Given the description of an element on the screen output the (x, y) to click on. 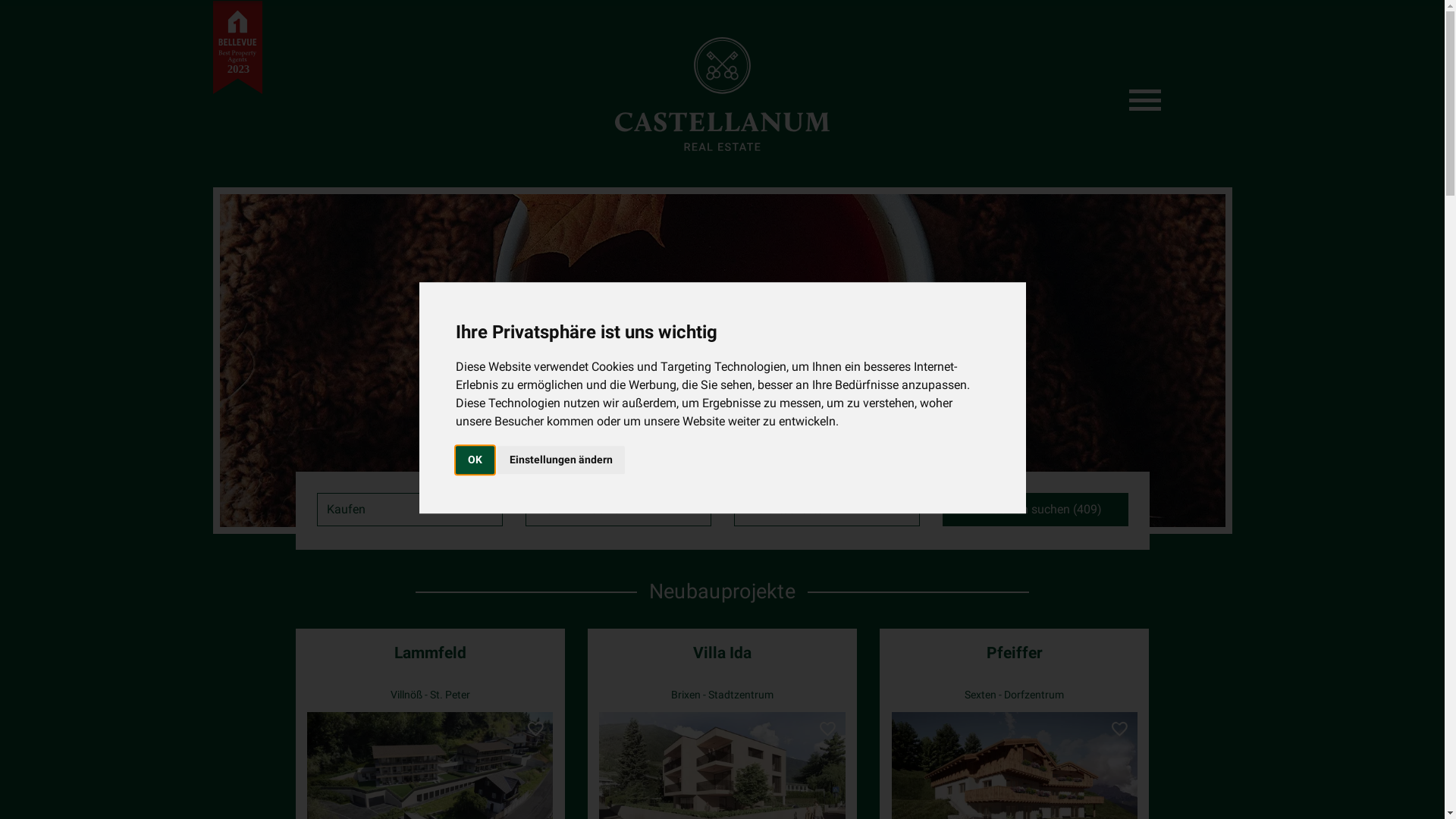
Lammfeld Element type: text (430, 652)
Villa Ida Element type: text (722, 652)
Pfeiffer Element type: text (1014, 652)
OK Element type: text (474, 459)
Alle Ortschaften
  Element type: text (826, 509)
Wohnimmobilien
  Element type: text (617, 509)
Immobilien suchen (409) Element type: text (1034, 509)
